Given the description of an element on the screen output the (x, y) to click on. 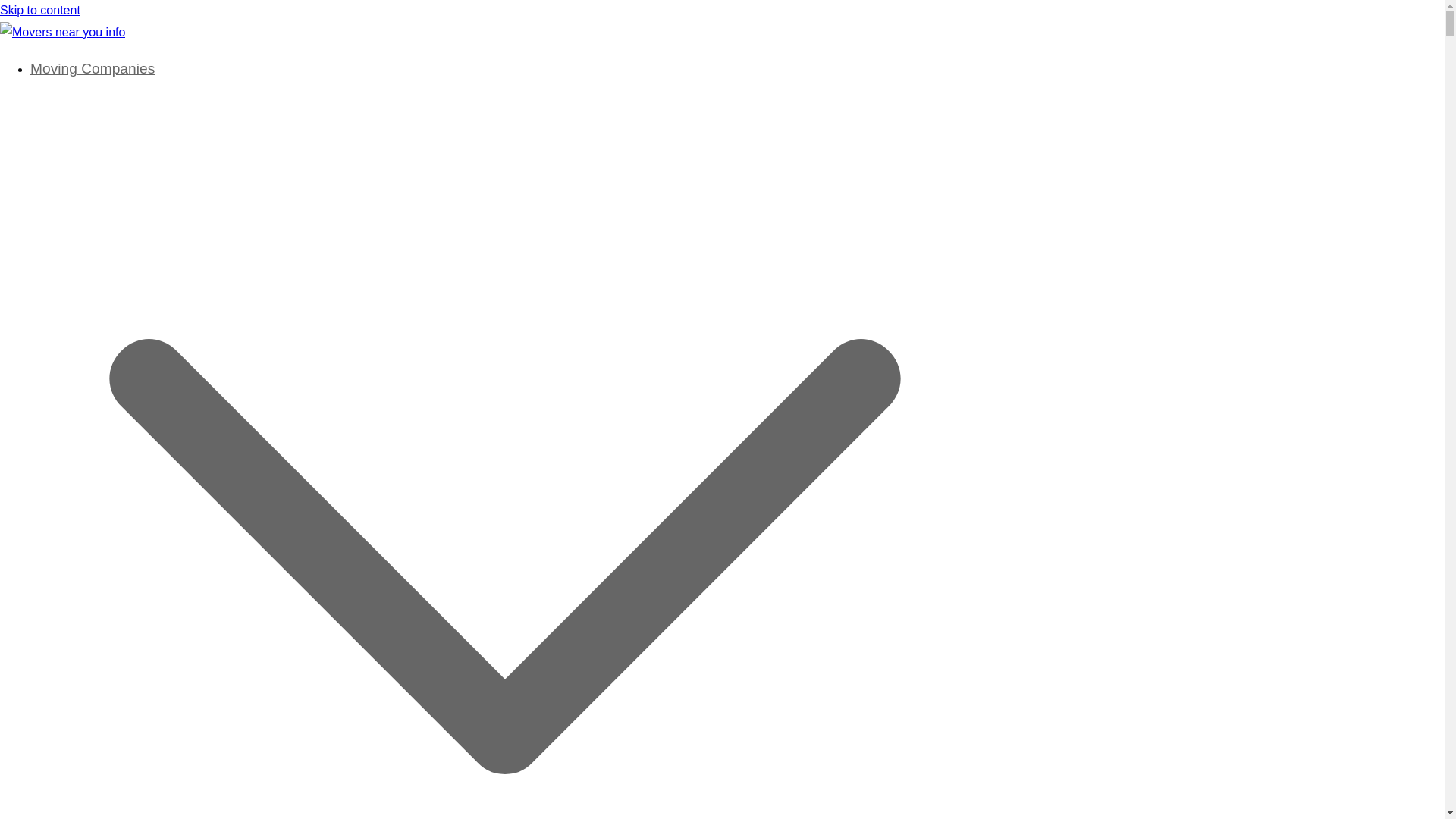
Movers Near Me (44, 65)
Skip to content (40, 10)
